Given the description of an element on the screen output the (x, y) to click on. 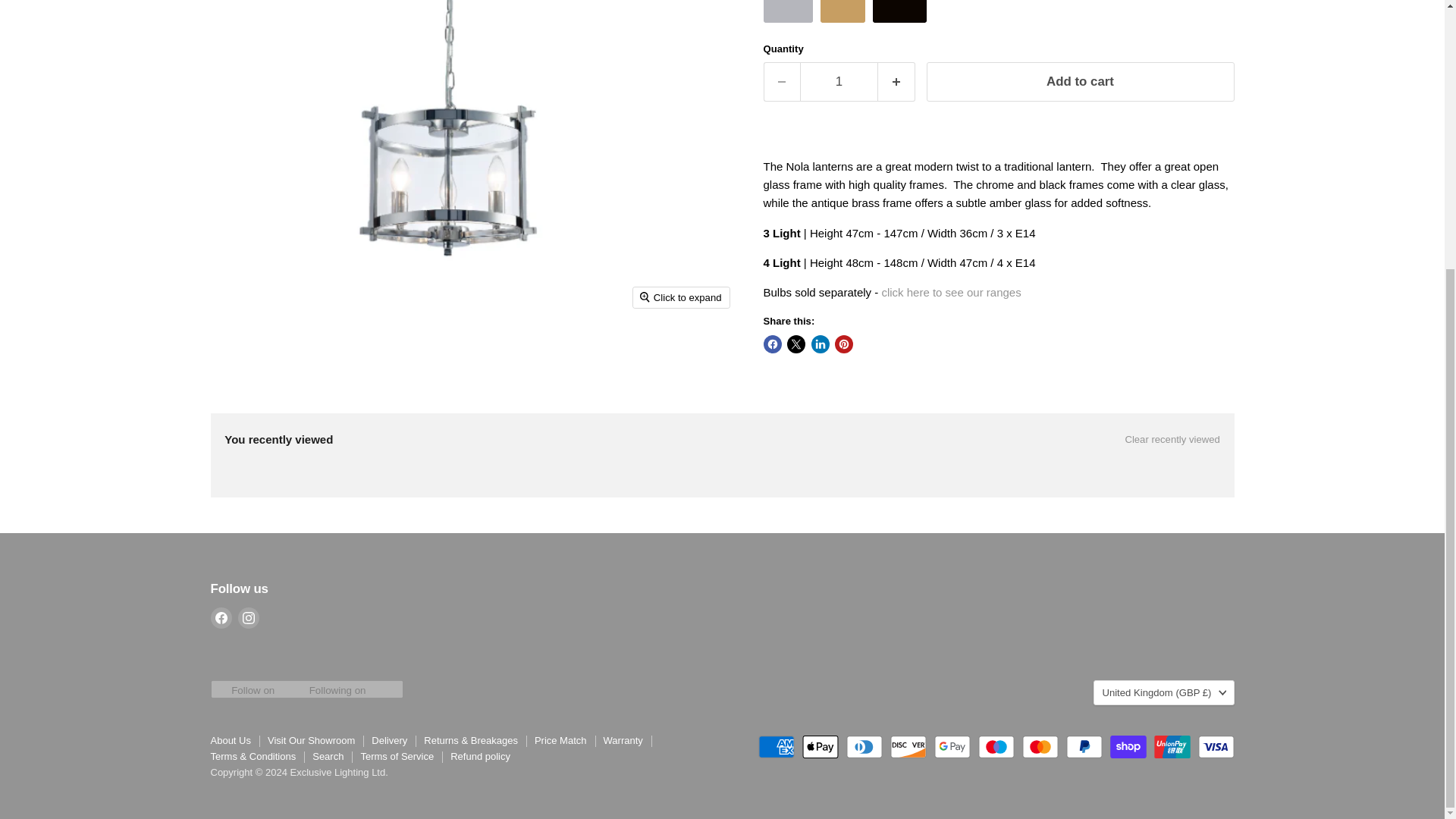
Instagram (248, 617)
1 (838, 81)
Facebook (221, 617)
Bulbs (950, 291)
